Given the description of an element on the screen output the (x, y) to click on. 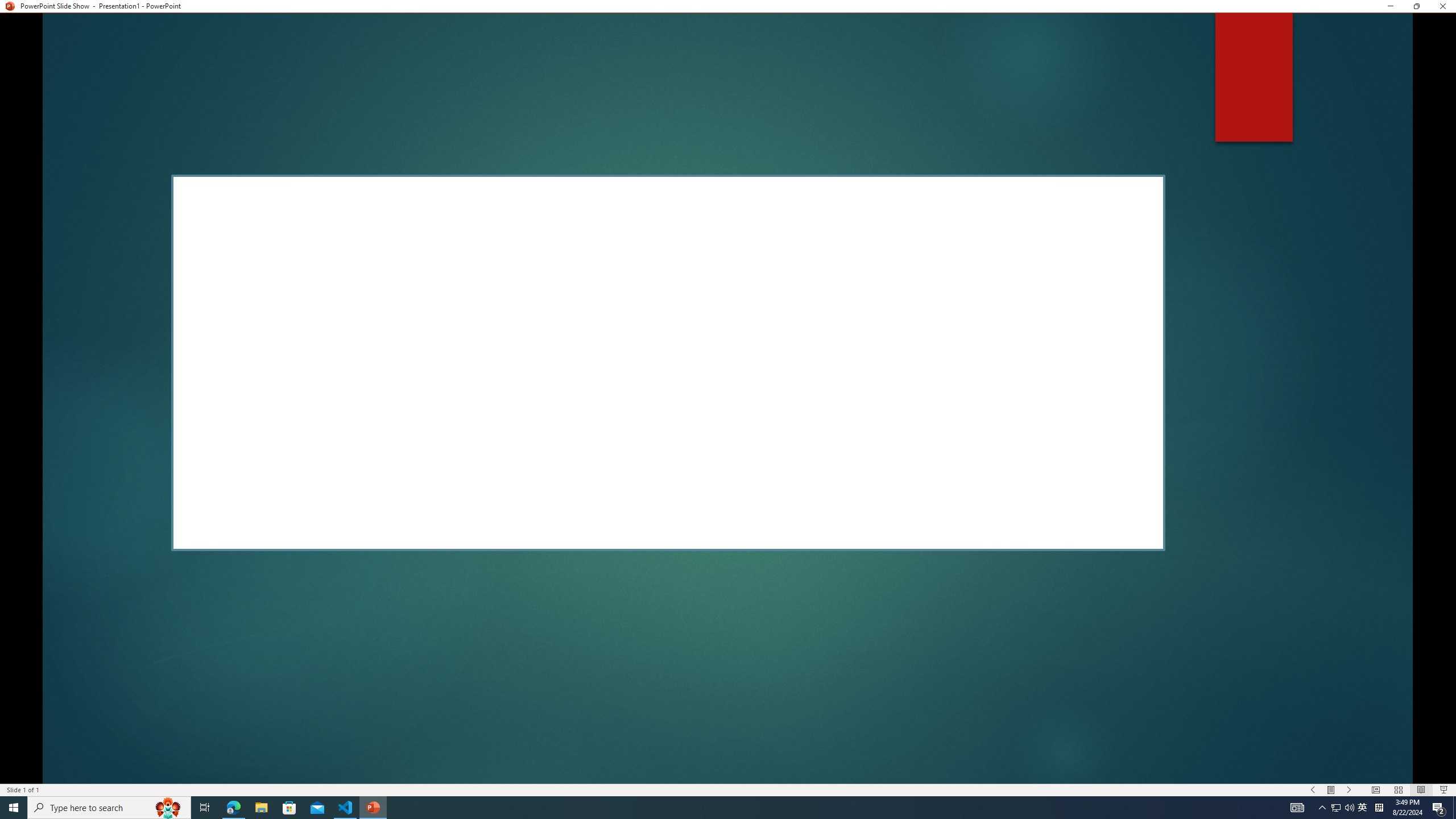
Slide Show Next On (1349, 790)
Menu On (1331, 790)
Slide Show Previous On (1313, 790)
